Given the description of an element on the screen output the (x, y) to click on. 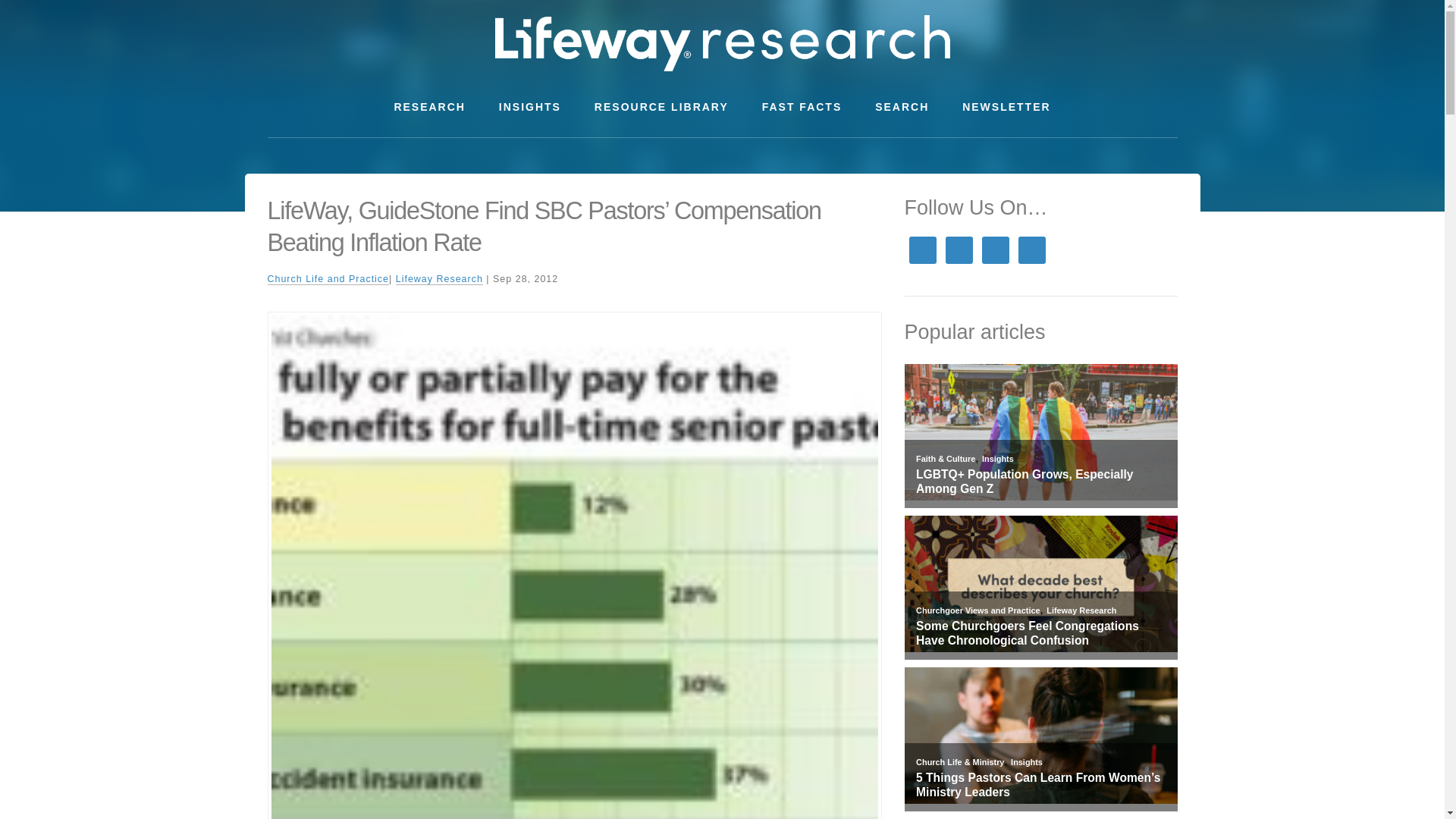
Church Life and Practice (327, 279)
FAST FACTS (801, 106)
Lifeway Research (1081, 610)
Insights (997, 458)
NEWSLETTER (1006, 106)
RESOURCE LIBRARY (661, 106)
Insights (1026, 761)
SEARCH (901, 106)
